Given the description of an element on the screen output the (x, y) to click on. 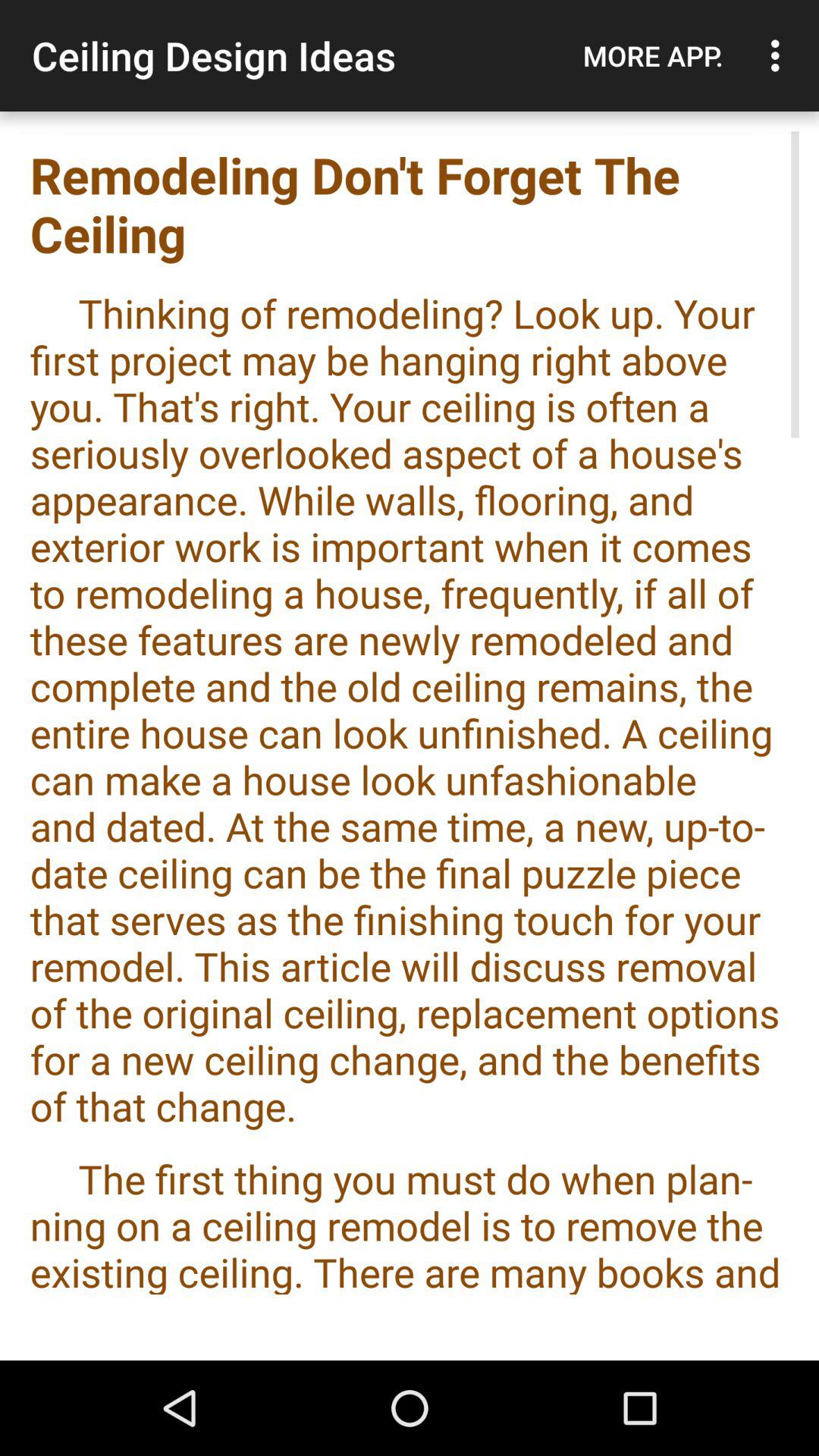
launch icon next to the more app. item (779, 55)
